Given the description of an element on the screen output the (x, y) to click on. 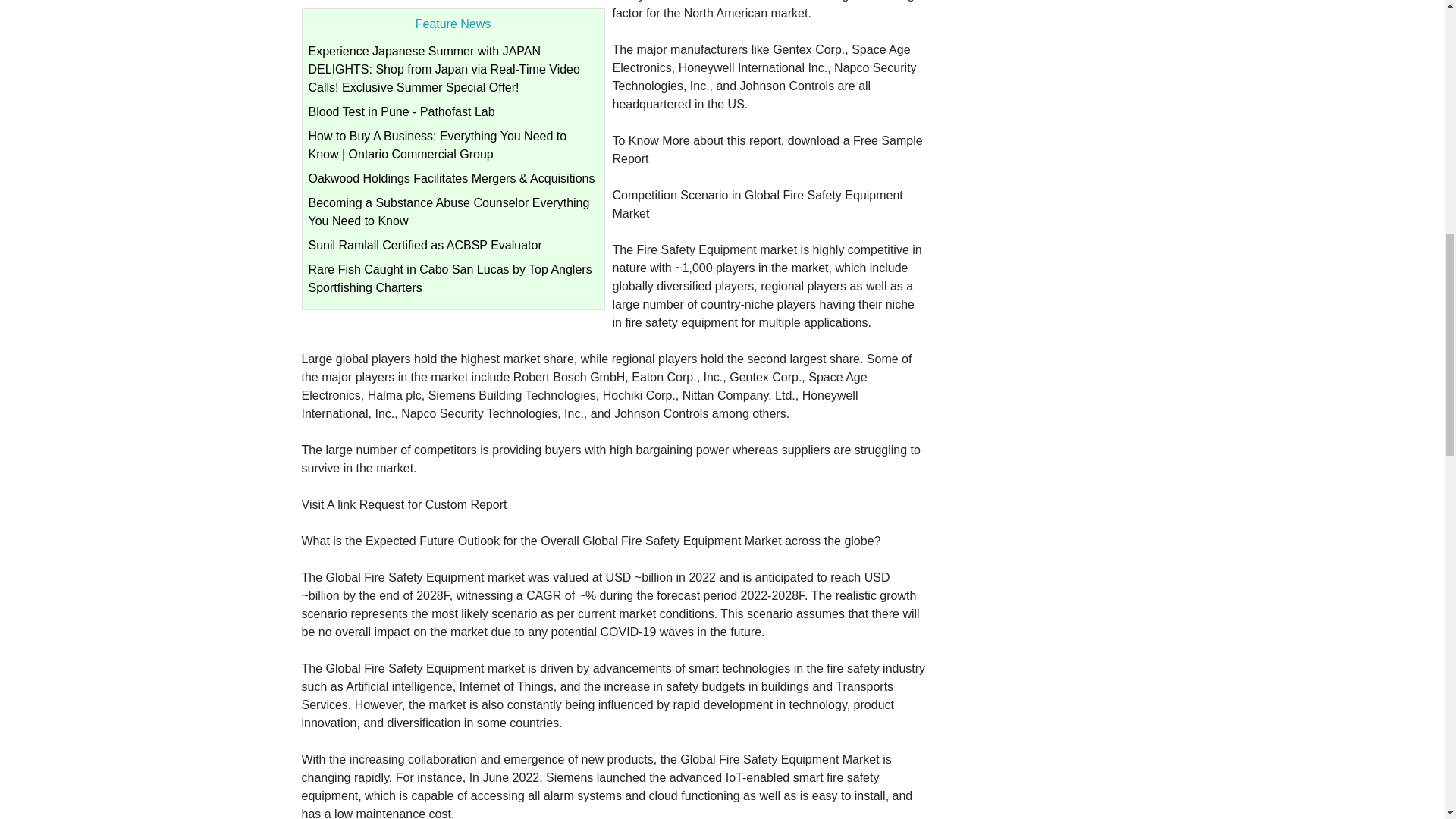
Sunil Ramlall Certified as ACBSP Evaluator (424, 245)
Blood Test in Pune - Pathofast Lab (401, 111)
